Given the description of an element on the screen output the (x, y) to click on. 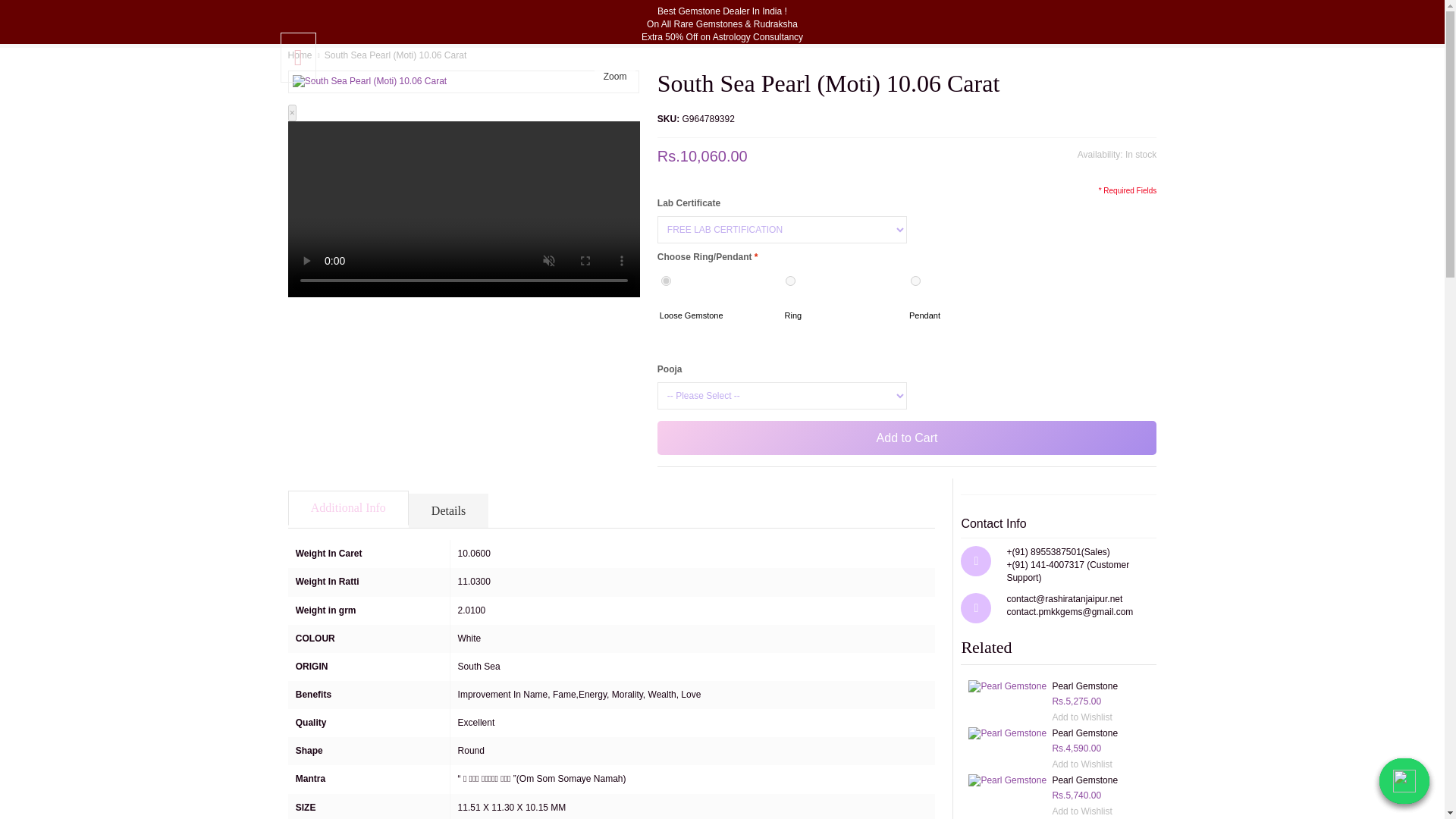
1661926 (915, 280)
Go to Home Page (300, 55)
1661924 (666, 280)
1661925 (790, 280)
